Given the description of an element on the screen output the (x, y) to click on. 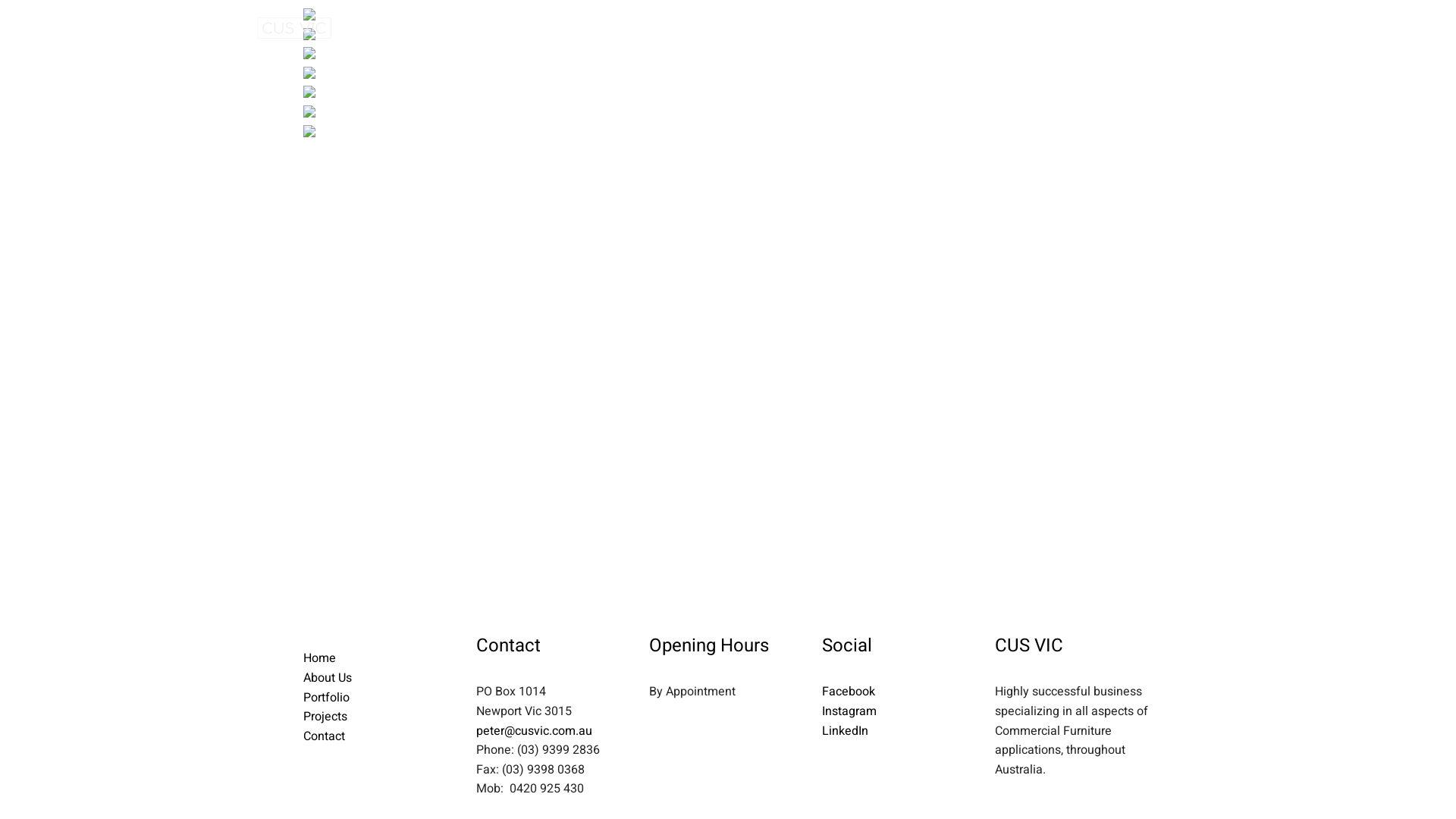
LinkedIn Element type: text (845, 730)
About Us Element type: text (327, 677)
Portfolio Element type: text (603, 27)
Projects Element type: text (325, 716)
Contact Element type: text (809, 27)
Instagram Element type: text (849, 711)
About Us Element type: text (535, 27)
Facebook Element type: text (848, 691)
Contact Element type: text (324, 736)
Home Element type: text (319, 658)
Portfolio Element type: text (326, 697)
Products Element type: text (673, 27)
peter@cusvic.com.au Element type: text (534, 730)
Home Element type: text (473, 27)
Projects Element type: text (744, 27)
